Given the description of an element on the screen output the (x, y) to click on. 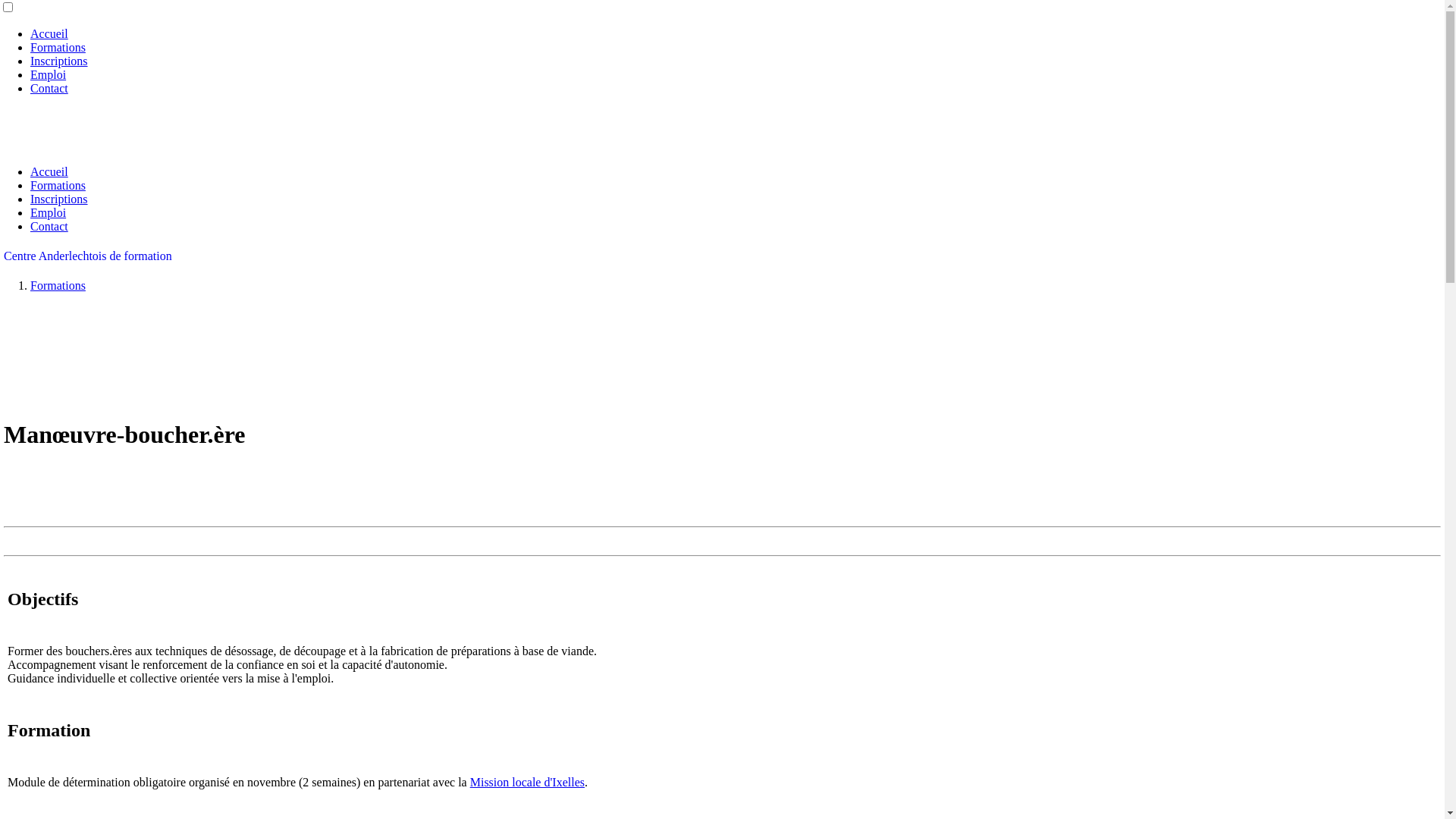
Accueil Element type: text (49, 33)
Formations Element type: text (57, 285)
Contact Element type: text (49, 87)
Emploi Element type: text (47, 74)
Inscriptions Element type: text (58, 198)
Contact Element type: text (49, 225)
Emploi Element type: text (47, 212)
Accueil Element type: text (49, 171)
Formations Element type: text (57, 46)
Formations Element type: text (57, 184)
Inscriptions Element type: text (58, 60)
Centre Anderlechtois de formation Element type: text (87, 255)
Mission locale d'Ixelles Element type: text (527, 781)
